Given the description of an element on the screen output the (x, y) to click on. 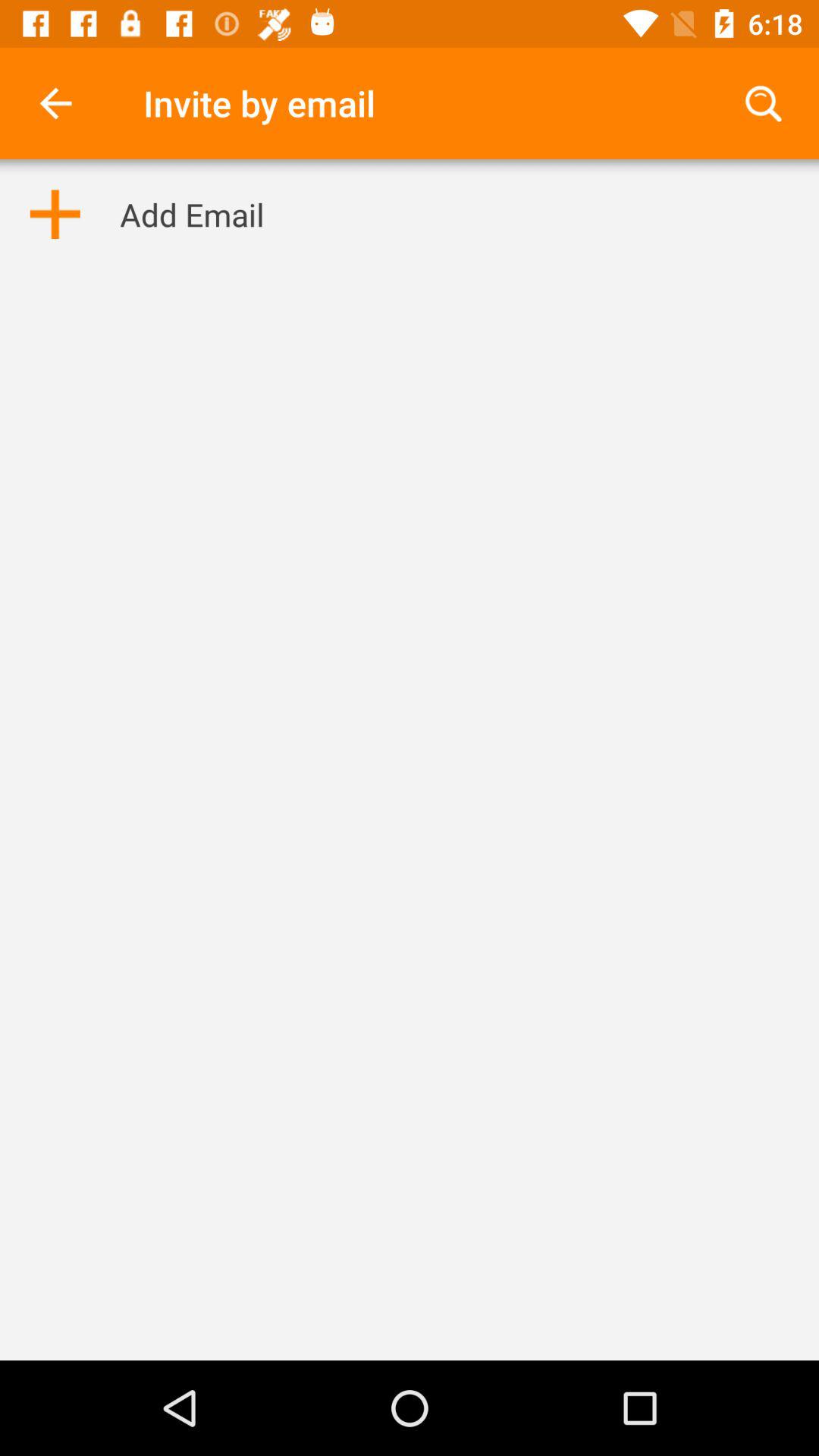
choose the item to the left of invite by email icon (55, 103)
